Given the description of an element on the screen output the (x, y) to click on. 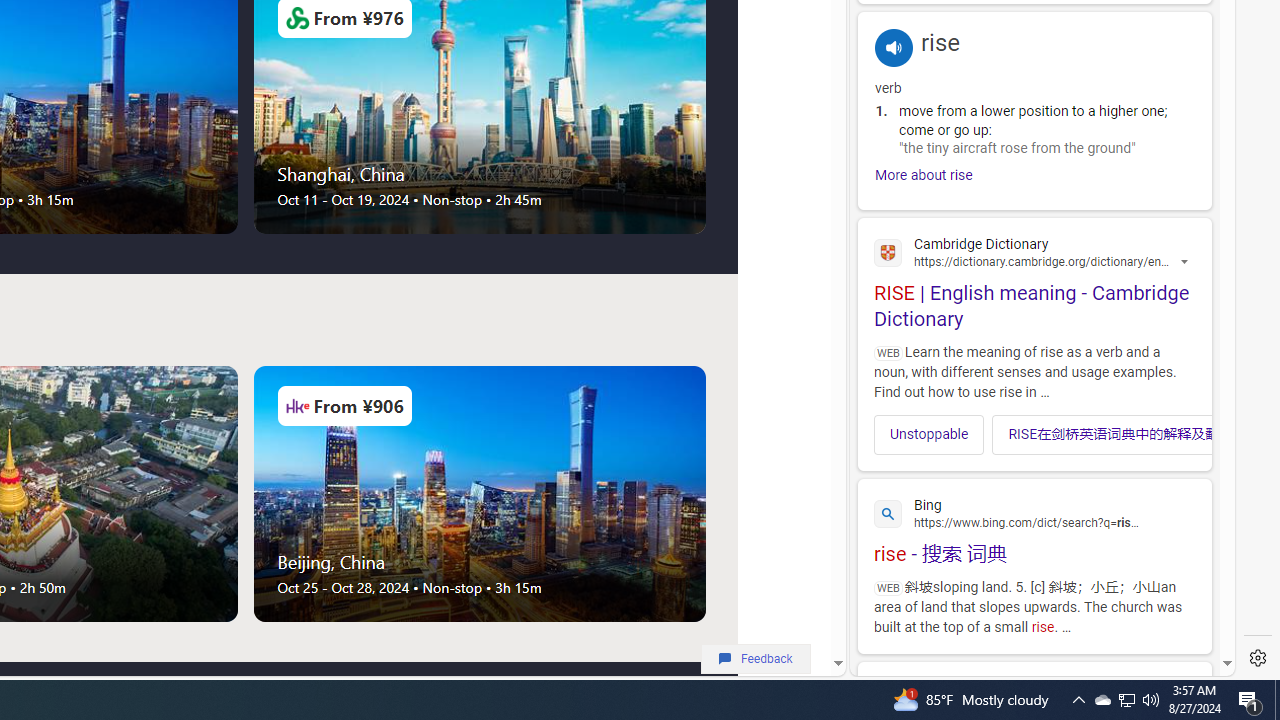
Airlines Logo (297, 405)
Cambridge Dictionary (1034, 251)
